Given the description of an element on the screen output the (x, y) to click on. 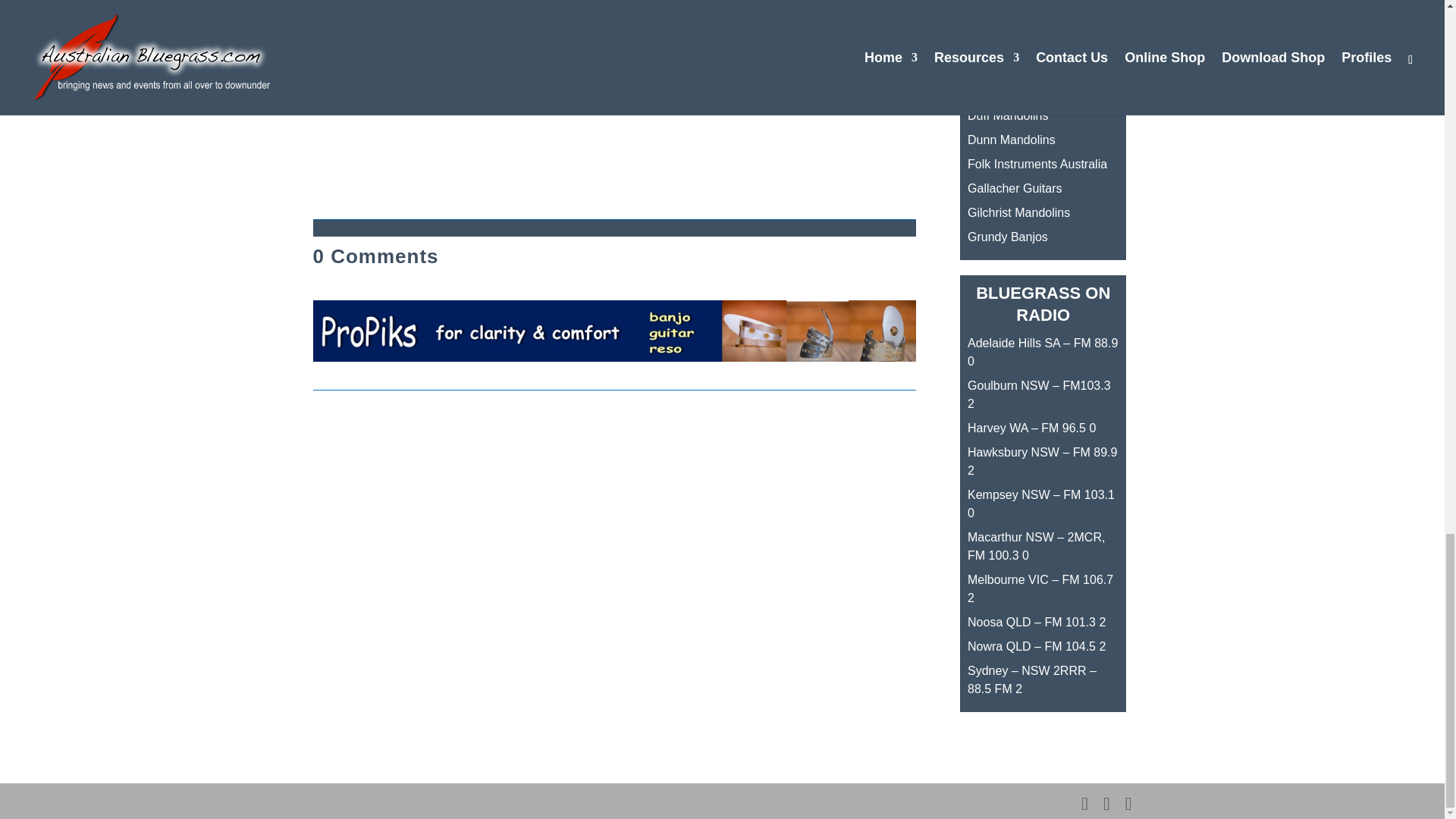
YouTube video player (614, 98)
Australian made banjos (1008, 18)
